Given the description of an element on the screen output the (x, y) to click on. 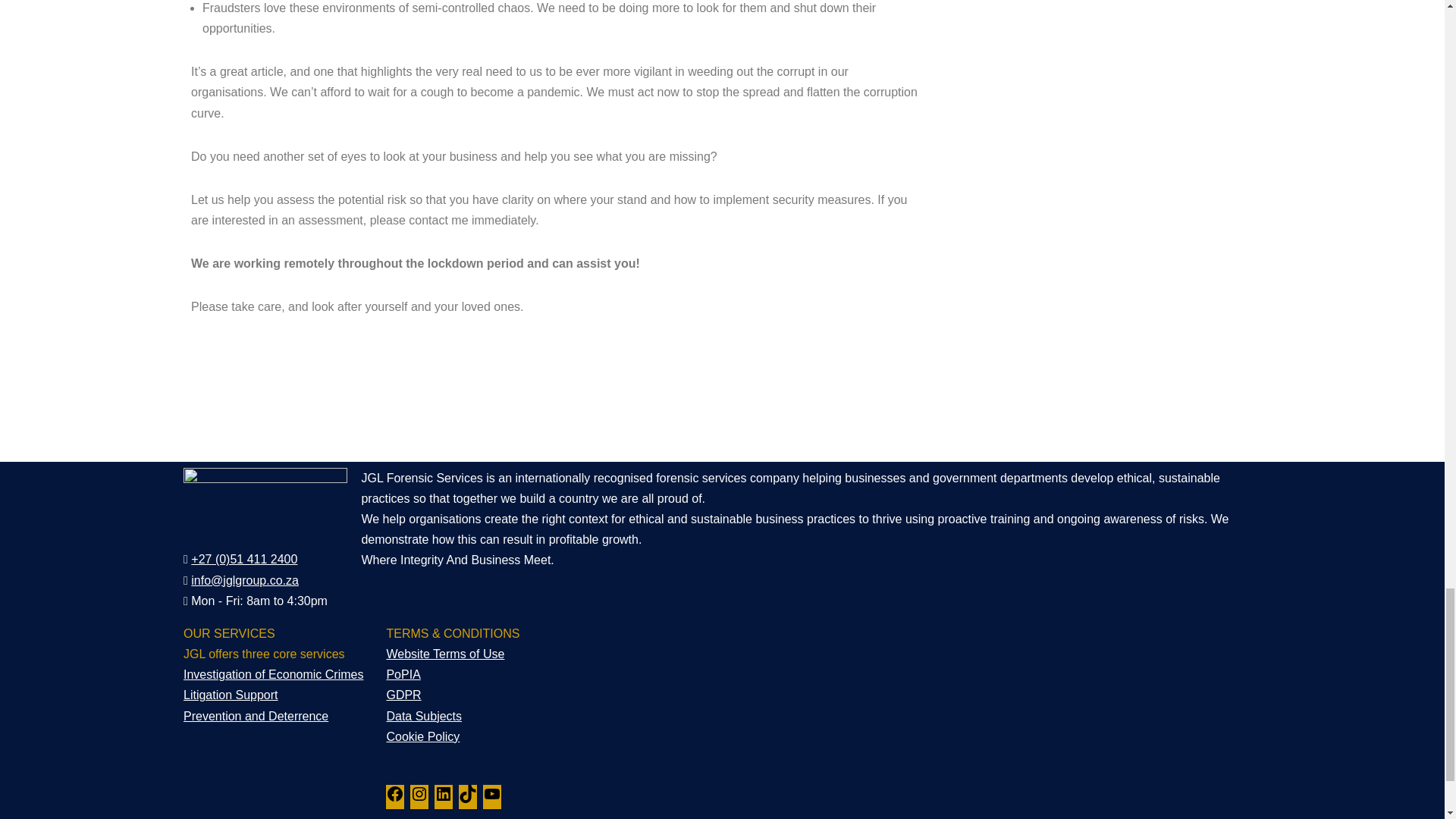
PoPIA (402, 674)
Data Subjects (423, 716)
GDPR (402, 694)
Website Terms of Use (444, 653)
Litigation Support (230, 694)
Cookie Policy (422, 736)
Investigation of Economic Crimes (272, 674)
Prevention and Deterrence (256, 716)
